Given the description of an element on the screen output the (x, y) to click on. 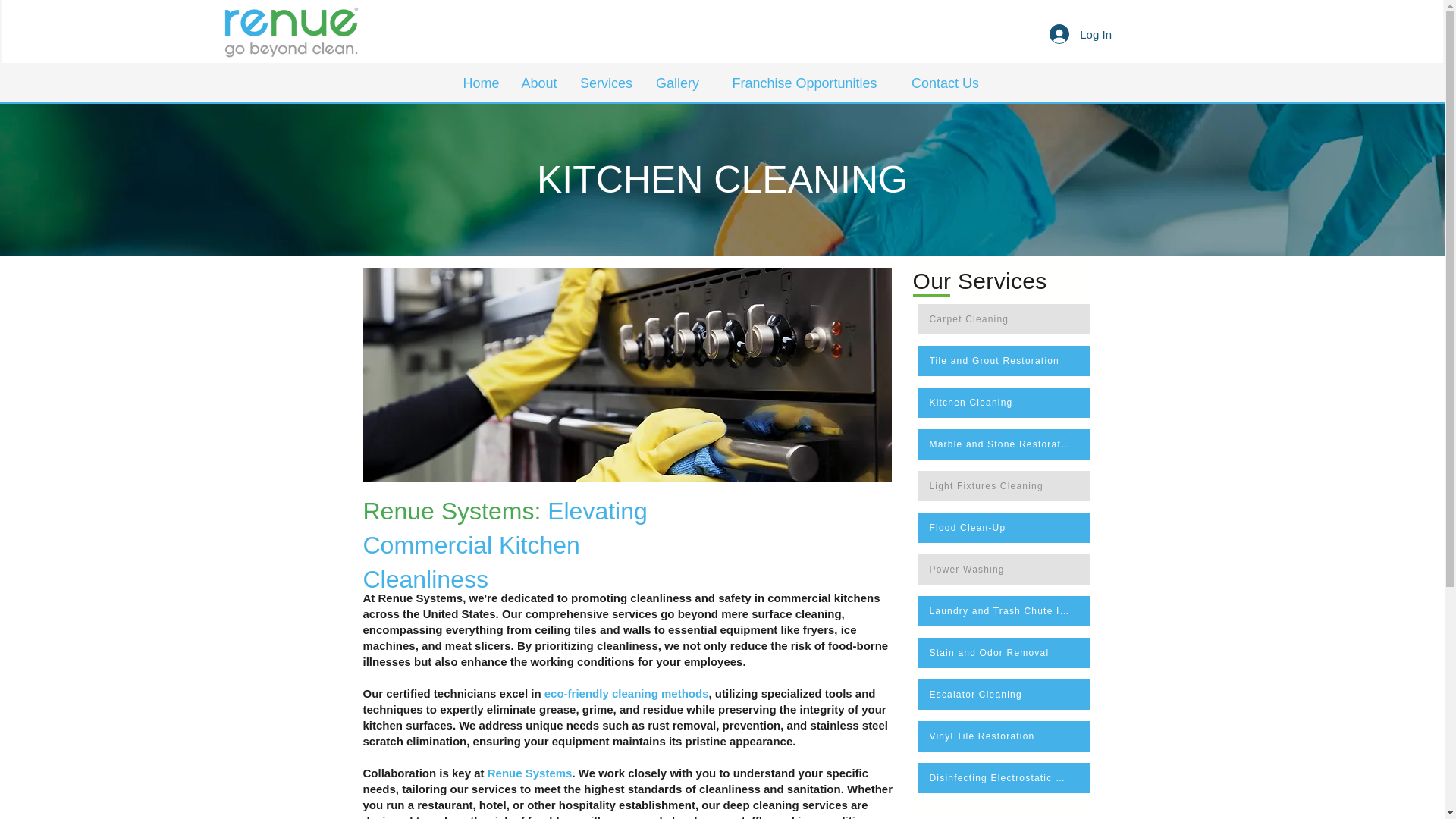
Light Fixtures Cleaning (1003, 485)
Escalator Cleaning (1003, 694)
Marble and Stone Restoration (1003, 444)
Flood Clean-Up (1003, 527)
Vinyl Tile Restoration (1003, 736)
Contact Us (944, 83)
Power Washing (1003, 569)
About (538, 83)
Tile and Grout Restoration (1003, 360)
Stain and Odor Removal (1003, 653)
